Given the description of an element on the screen output the (x, y) to click on. 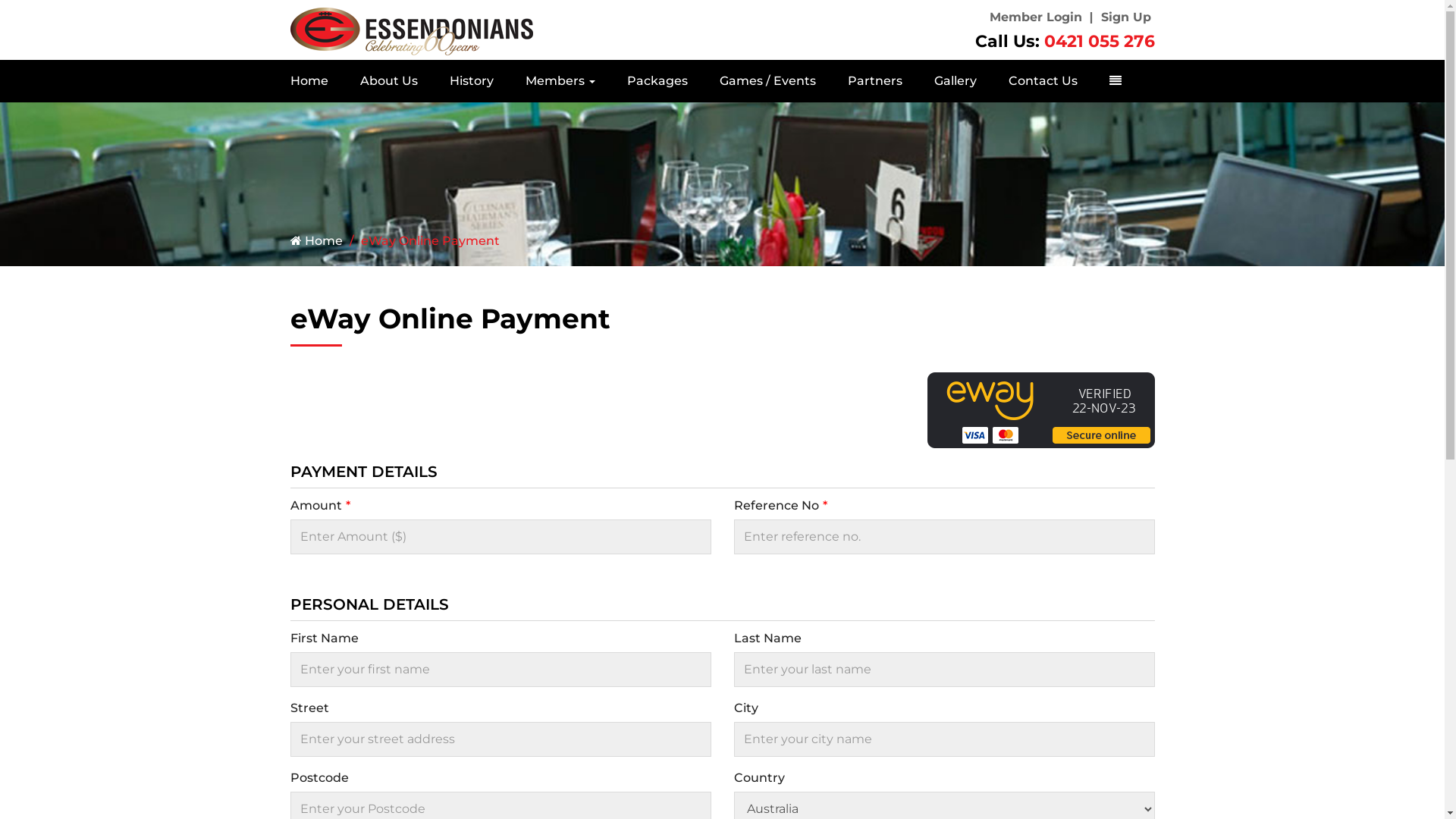
Member Login Element type: text (1034, 16)
About Us Element type: text (388, 80)
Contact Us Element type: text (1041, 80)
Games / Events Element type: text (767, 80)
Partners Element type: text (874, 80)
Home Element type: text (316, 80)
History Element type: text (471, 80)
Gallery Element type: text (954, 80)
Packages Element type: text (657, 80)
Home Element type: text (315, 240)
Members Element type: text (560, 80)
eWAY Payment Gateway Element type: hover (1040, 408)
Sign Up Element type: text (1126, 16)
0421 055 276 Element type: text (1098, 41)
